Given the description of an element on the screen output the (x, y) to click on. 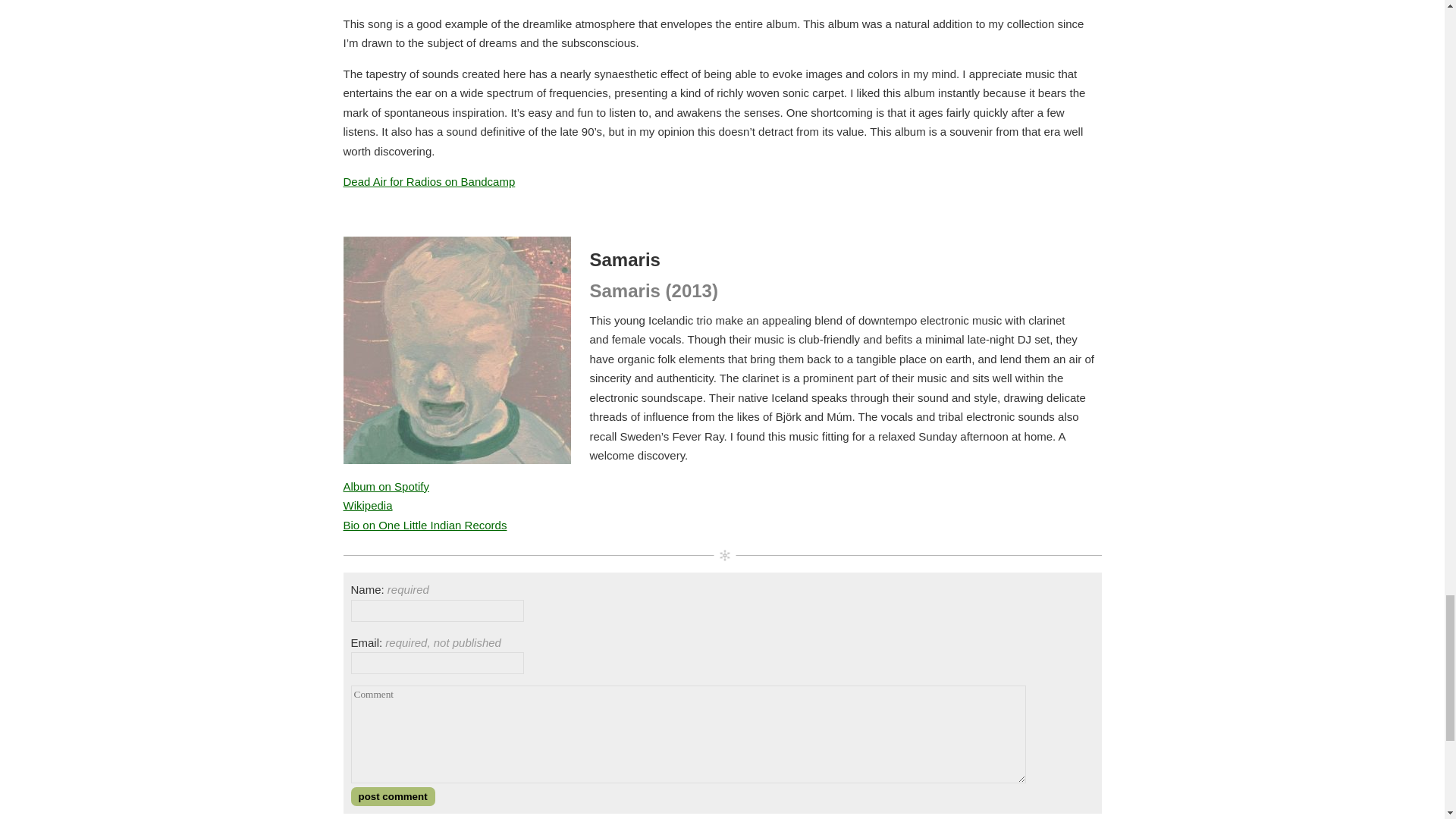
Bio on One Little Indian Records (424, 524)
post comment (391, 796)
Wikipedia (366, 504)
post comment (391, 796)
Dead Air for Radios on Bandcamp (428, 181)
Album on Spotify (385, 486)
